Given the description of an element on the screen output the (x, y) to click on. 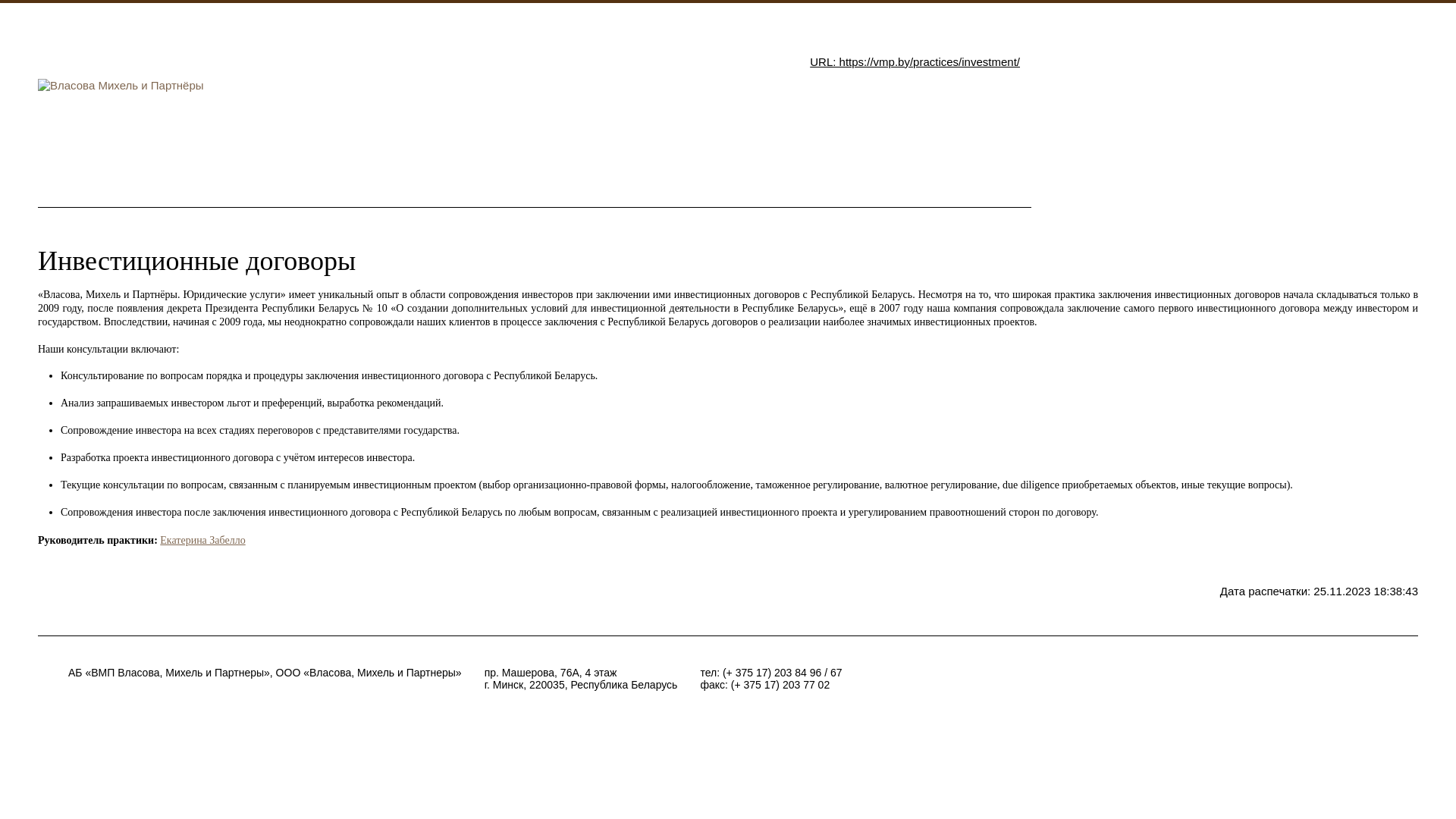
URL: https://vmp.by/practices/investment/ Element type: text (914, 61)
